Given the description of an element on the screen output the (x, y) to click on. 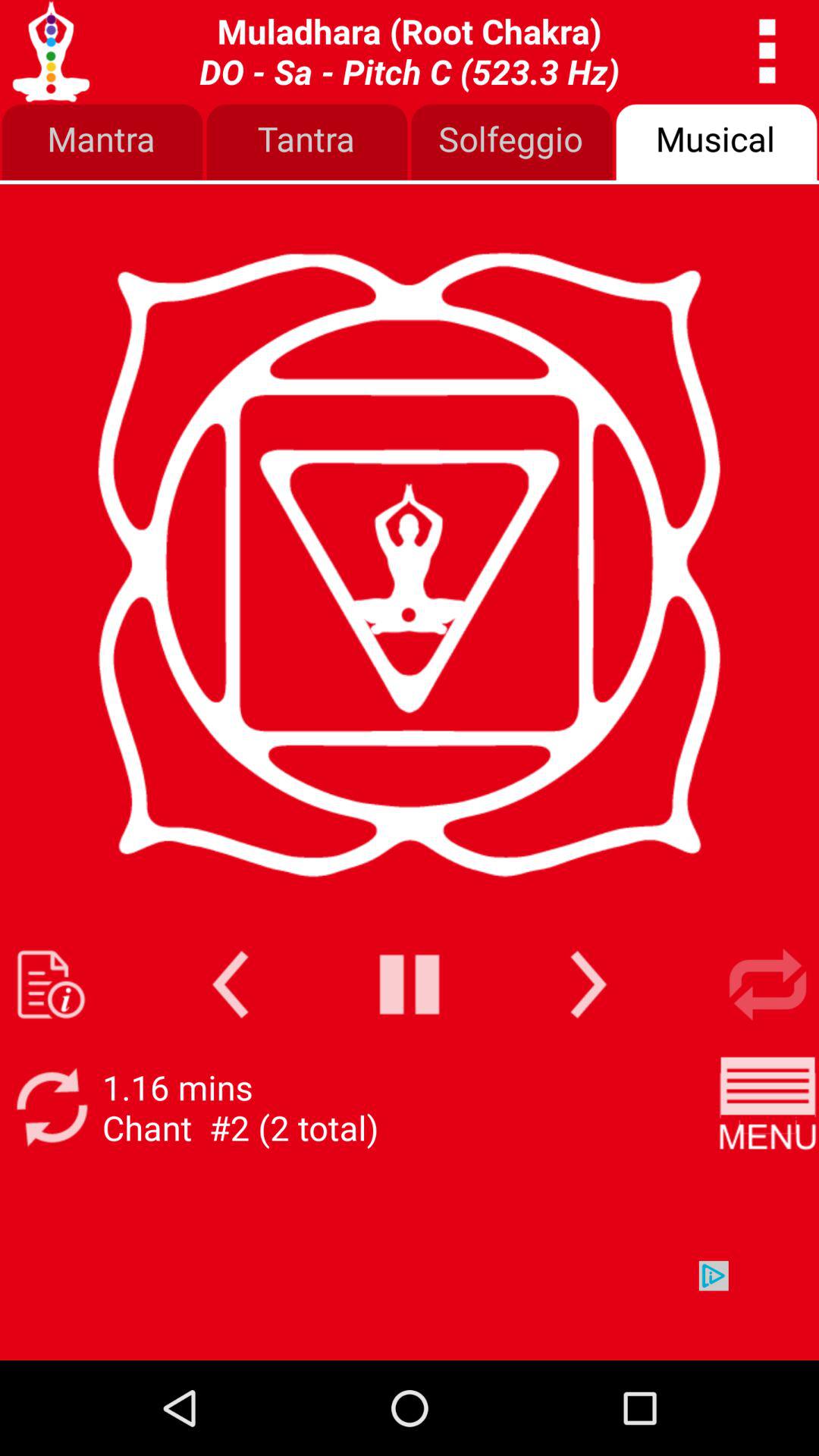
play next (588, 984)
